Given the description of an element on the screen output the (x, y) to click on. 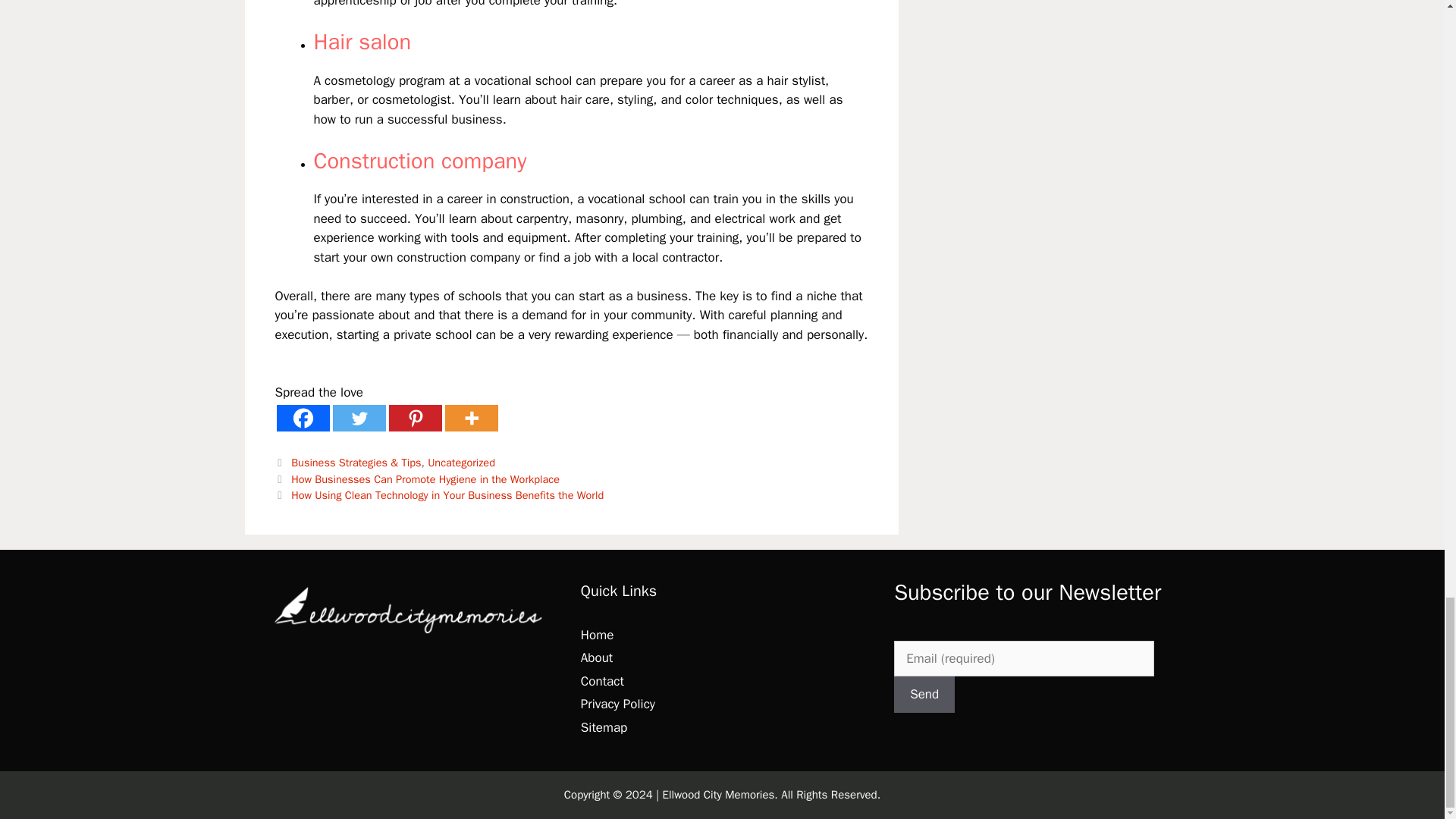
How Businesses Can Promote Hygiene in the Workplace (425, 479)
About (596, 657)
Pinterest (414, 417)
Send (924, 694)
Home (596, 634)
Twitter (358, 417)
Facebook (302, 417)
Uncategorized (461, 462)
